Given the description of an element on the screen output the (x, y) to click on. 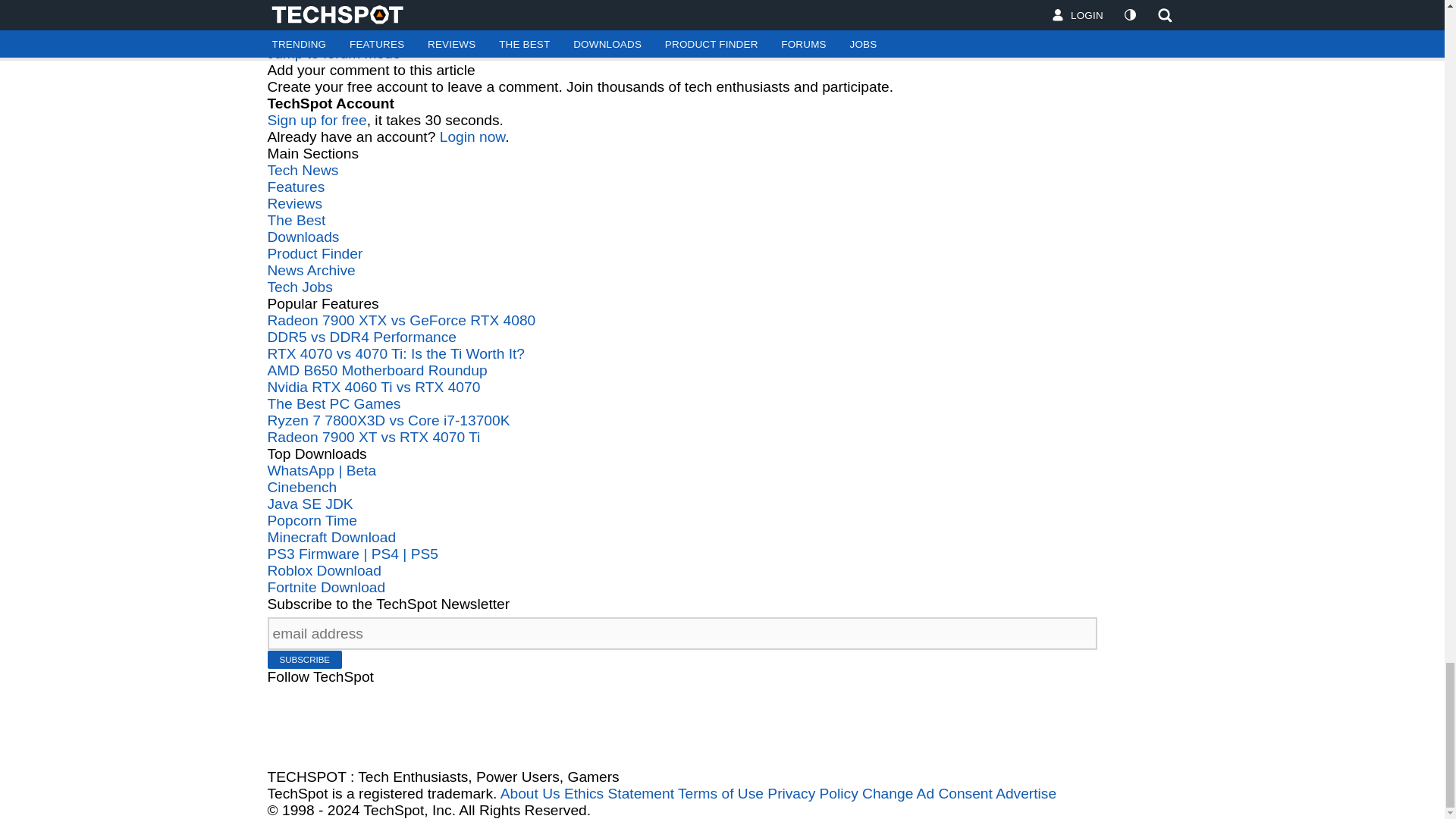
Subscribe (304, 659)
